Given the description of an element on the screen output the (x, y) to click on. 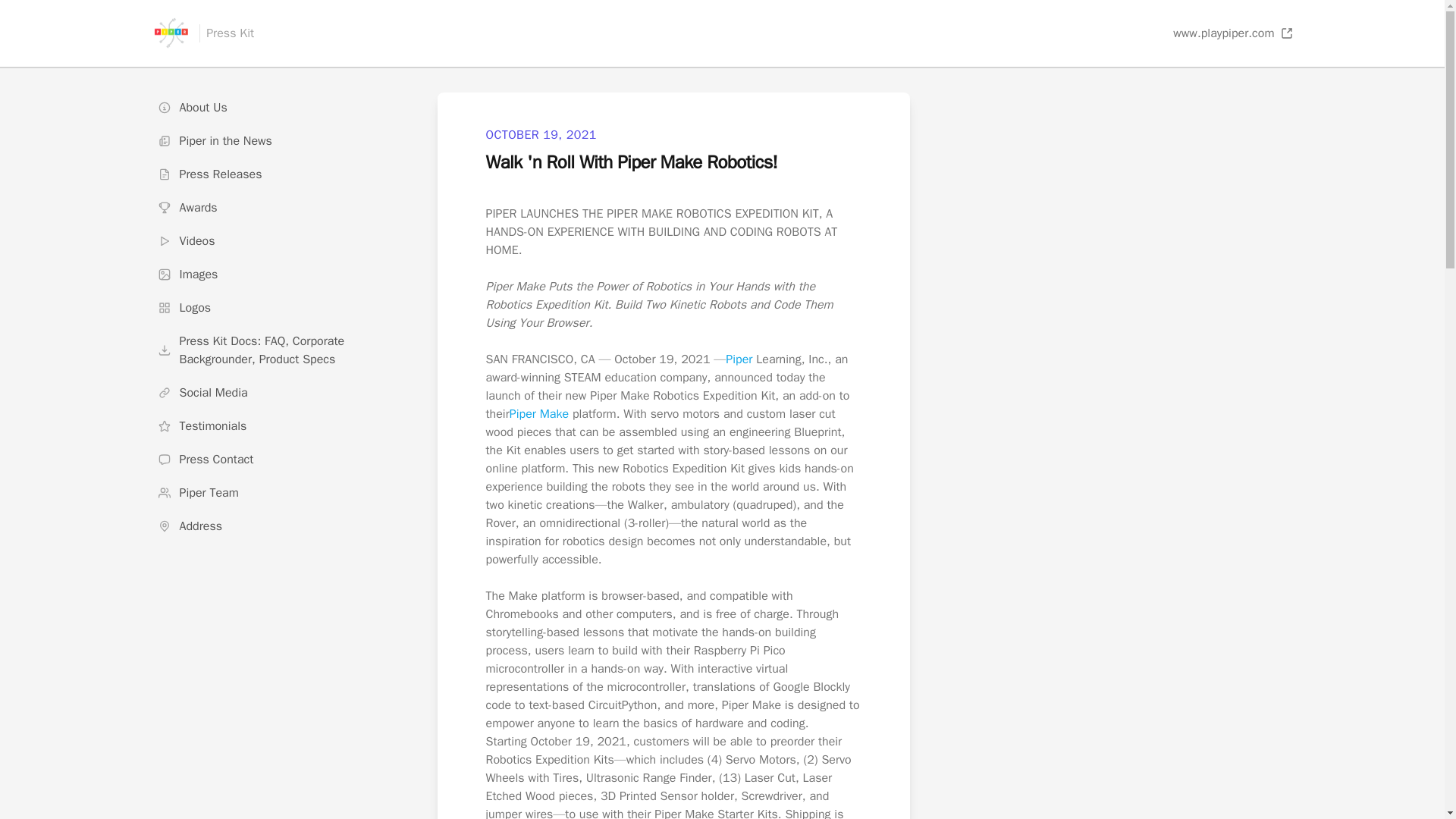
Logos (278, 307)
Social Media (278, 392)
Testimonials (278, 426)
Press Releases (278, 173)
Piper Make (539, 413)
Piper (738, 359)
Piper in the News (278, 141)
Videos (278, 241)
Images (278, 274)
Awards (278, 207)
About Us (278, 107)
Press Contact (278, 459)
www.playpiper.com (1232, 33)
Piper Team (278, 492)
Press Kit Docs: FAQ, Corporate Backgrounder, Product Specs (278, 349)
